Given the description of an element on the screen output the (x, y) to click on. 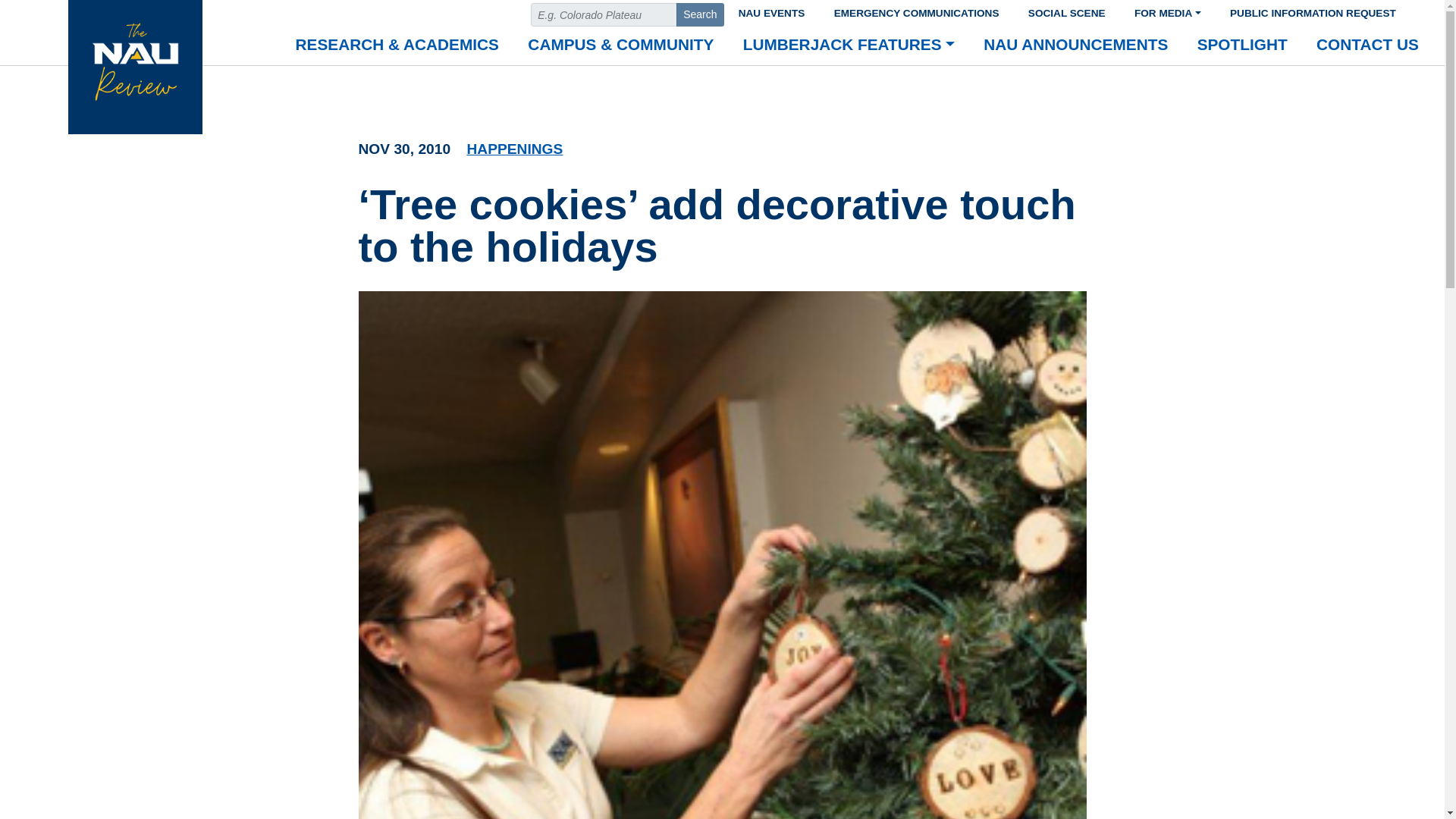
Public Information Request (1312, 10)
FOR MEDIA (1167, 10)
SPOTLIGHT (1241, 45)
For Media (1167, 10)
Search (700, 14)
NAU Events (770, 10)
CONTACT US (1366, 45)
SOCIAL SCENE (1066, 10)
EMERGENCY COMMUNICATIONS (915, 10)
NAU ANNOUNCEMENTS (1075, 45)
